Given the description of an element on the screen output the (x, y) to click on. 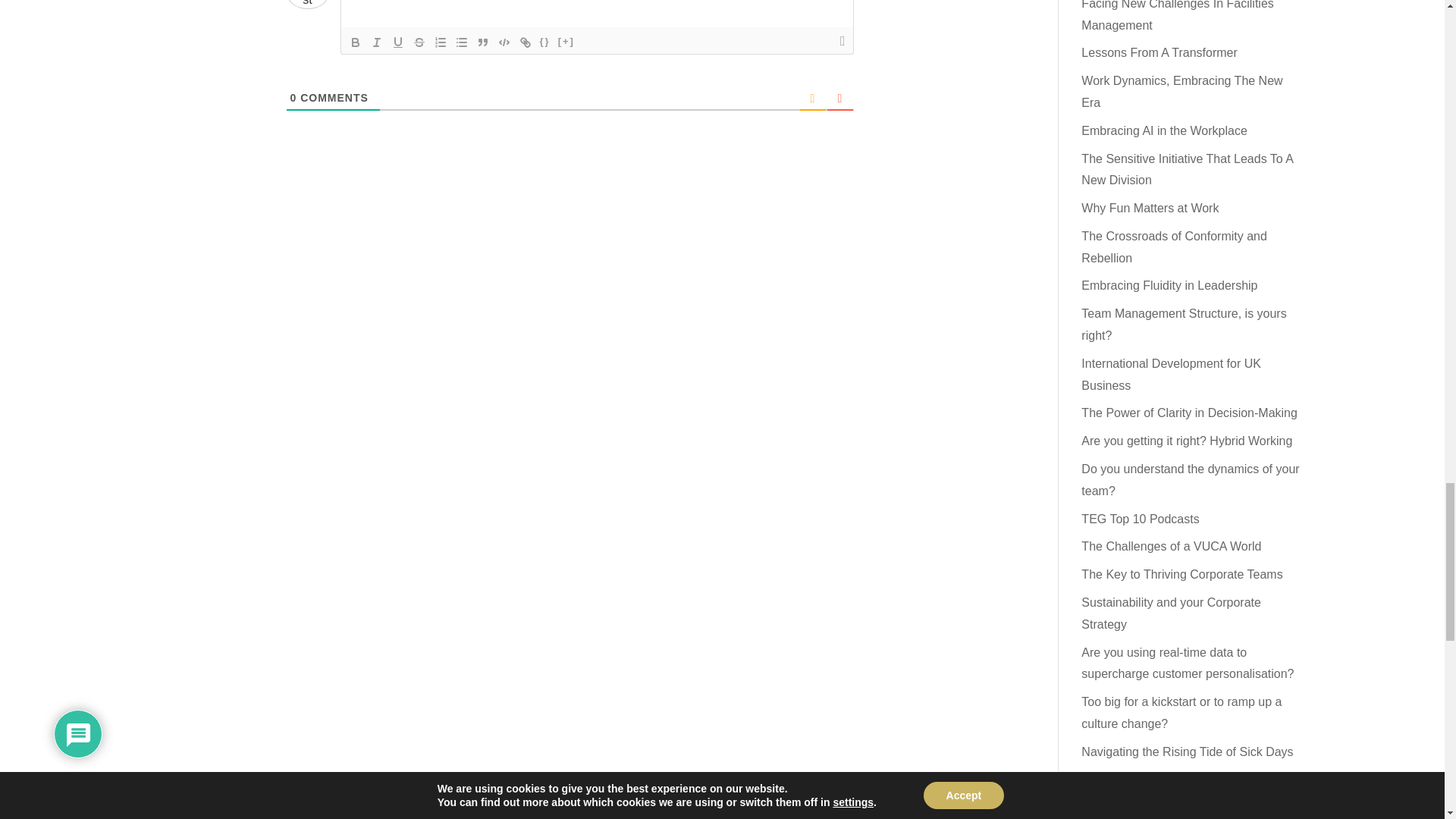
bullet (461, 42)
Italic (376, 42)
Bold (355, 42)
Strike (419, 42)
ordered (440, 42)
Code Block (504, 42)
Blockquote (482, 42)
Source Code (544, 42)
Unordered List (461, 42)
Underline (398, 42)
Link (525, 42)
Ordered List (440, 42)
Spoiler (566, 42)
